Given the description of an element on the screen output the (x, y) to click on. 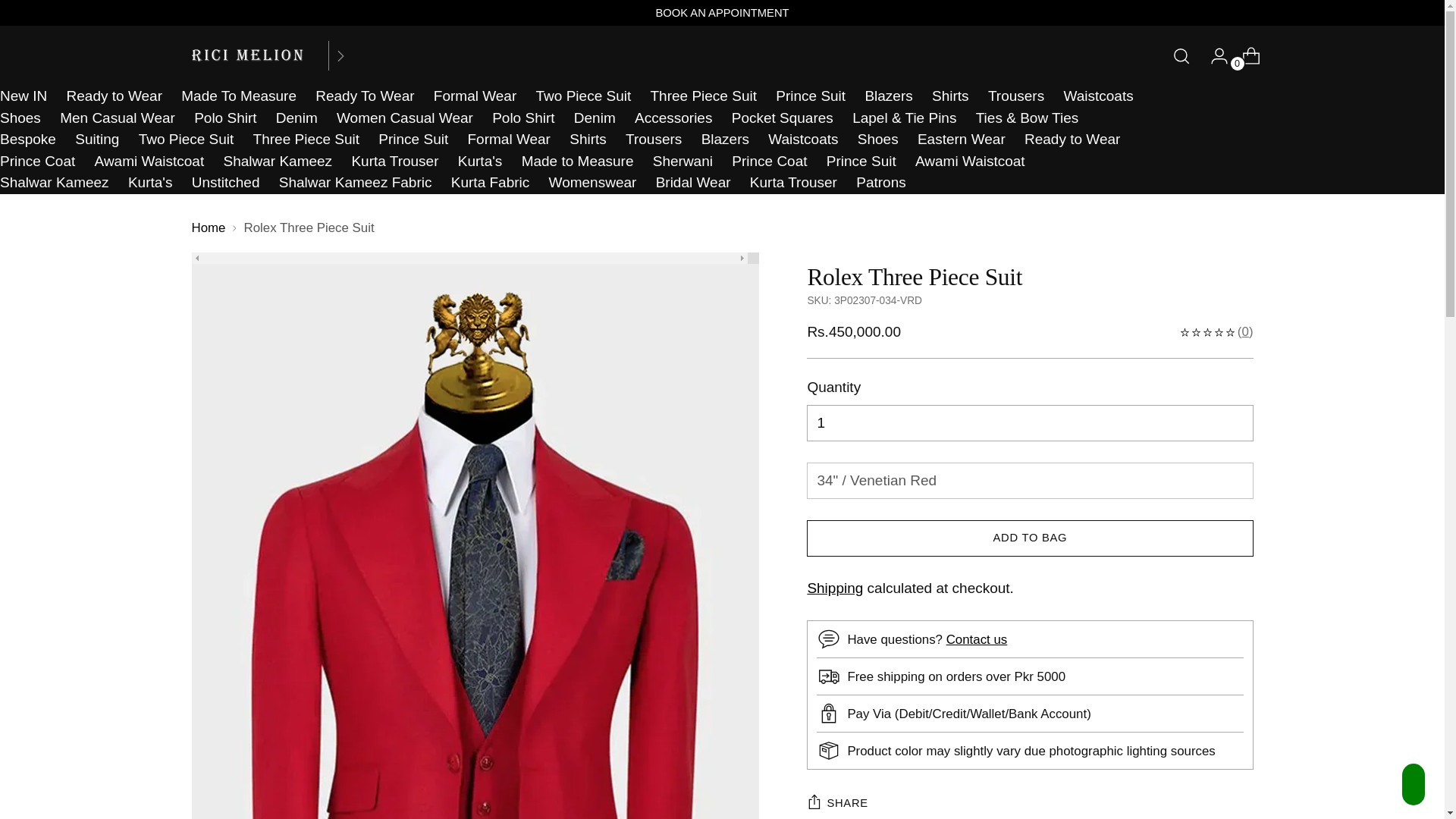
1 (1029, 422)
BOOK AN APPOINTMENT (722, 12)
